Given the description of an element on the screen output the (x, y) to click on. 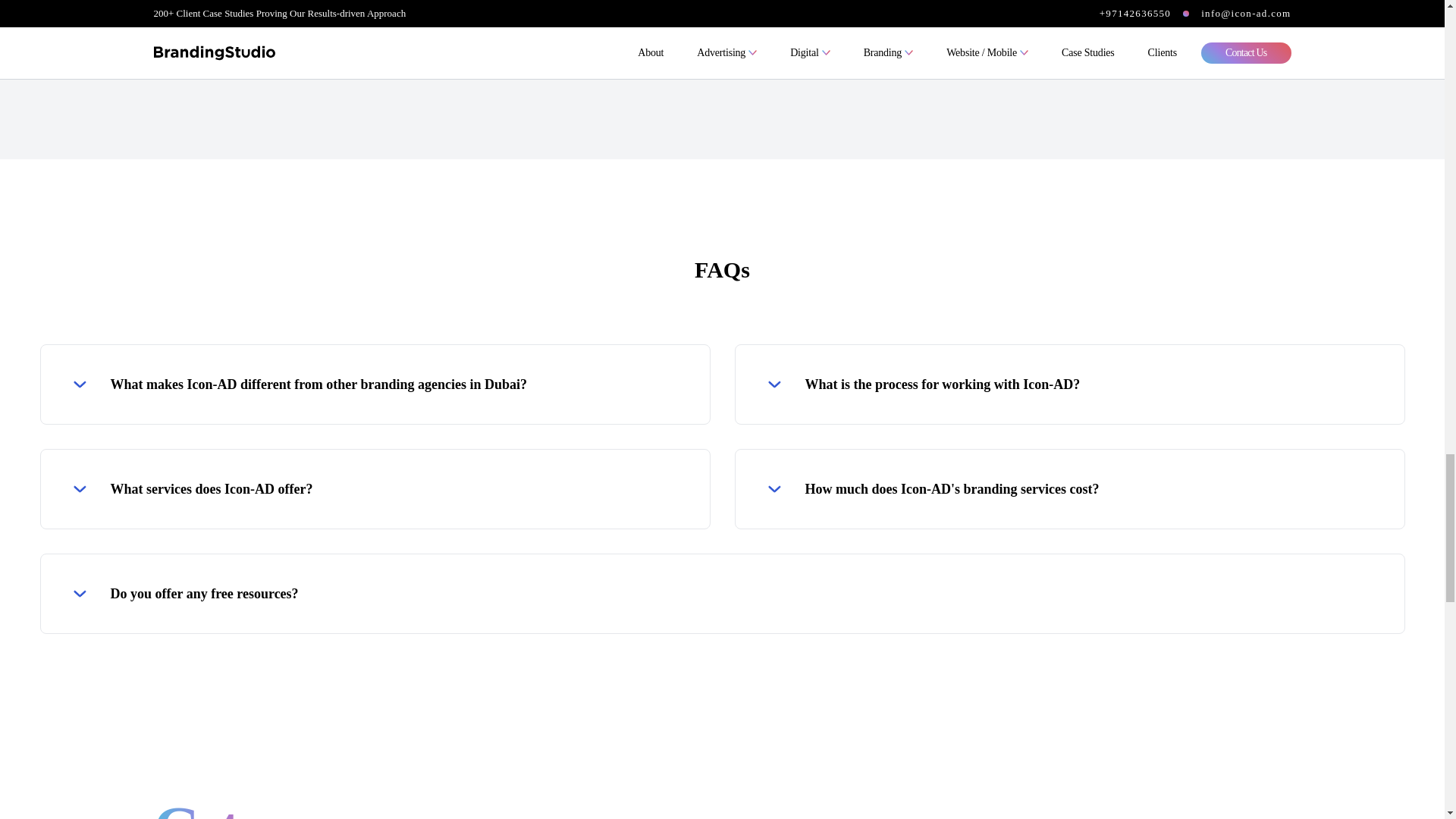
What services does Icon-AD offer? (375, 489)
What is the process for working with Icon-AD? (1070, 384)
How much does Icon-AD's branding services cost? (1070, 489)
Do you offer any free resources? (722, 593)
